Given the description of an element on the screen output the (x, y) to click on. 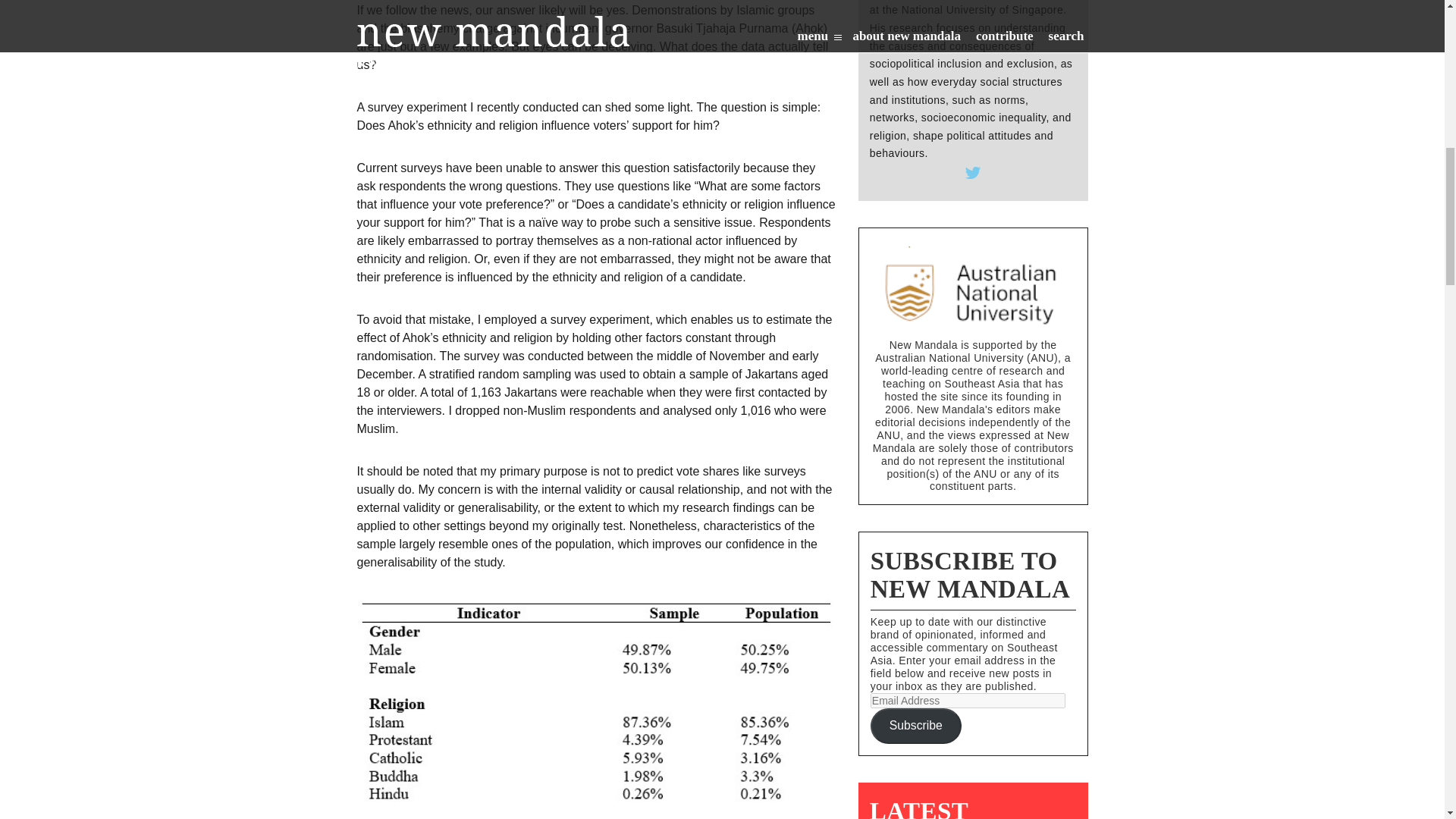
LATEST (918, 808)
Subscribe (915, 725)
